Given the description of an element on the screen output the (x, y) to click on. 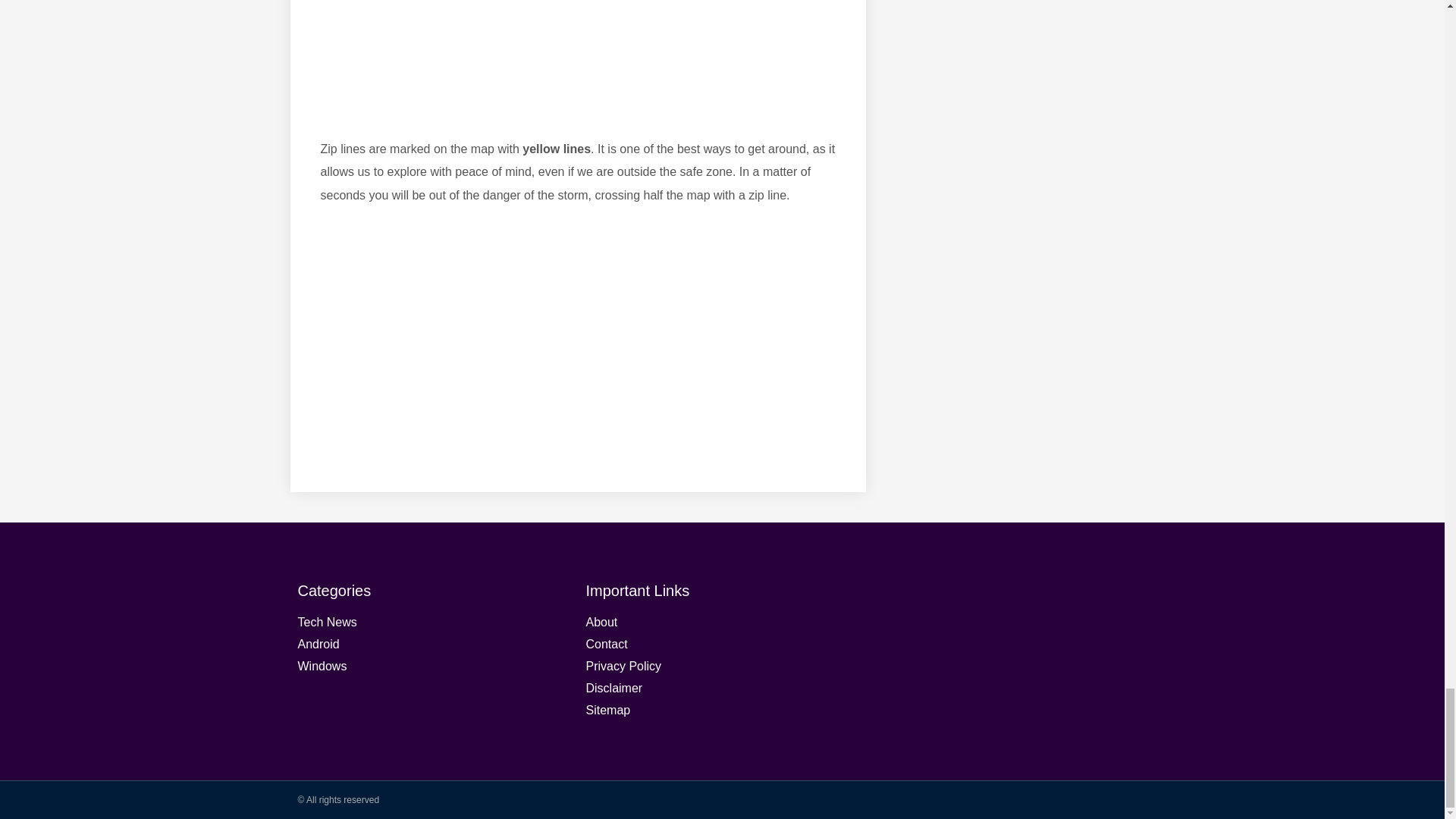
Tech News (433, 622)
About (722, 622)
Android (433, 644)
Windows (433, 666)
Contact (722, 644)
